Given the description of an element on the screen output the (x, y) to click on. 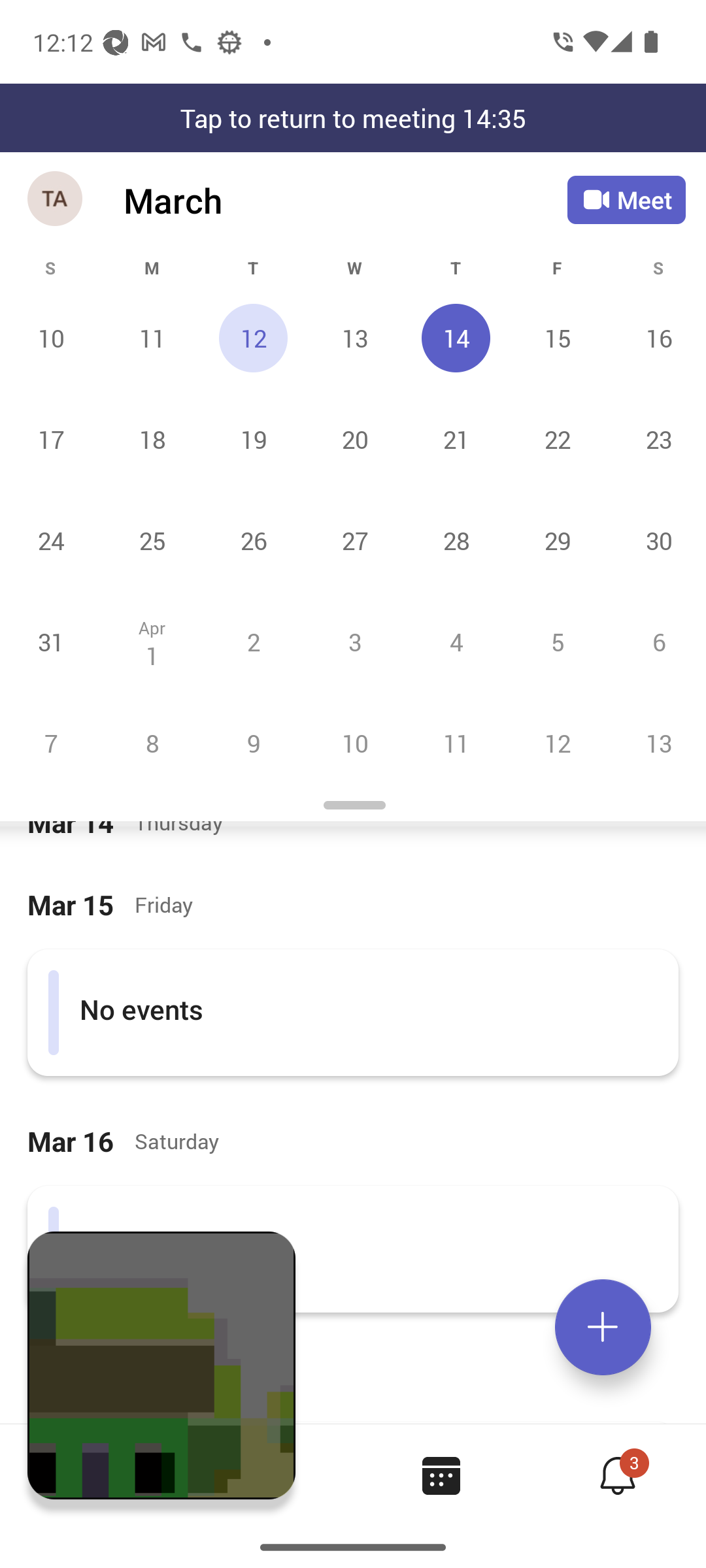
Tap to return to meeting 14:35 (353, 117)
Navigation (56, 199)
Meet Meet now or join with an ID (626, 199)
March March Calendar Agenda View (345, 199)
Sunday, March 10 10 (50, 337)
Monday, March 11 11 (151, 337)
Tuesday, March 12, Today 12 (253, 337)
Wednesday, March 13 13 (354, 337)
Thursday, March 14, Selected 14 (455, 337)
Friday, March 15 15 (556, 337)
Saturday, March 16 16 (656, 337)
Sunday, March 17 17 (50, 438)
Monday, March 18 18 (151, 438)
Tuesday, March 19 19 (253, 438)
Wednesday, March 20 20 (354, 438)
Thursday, March 21 21 (455, 438)
Friday, March 22 22 (556, 438)
Saturday, March 23 23 (656, 438)
Sunday, March 24 24 (50, 540)
Monday, March 25 25 (151, 540)
Tuesday, March 26 26 (253, 540)
Wednesday, March 27 27 (354, 540)
Thursday, March 28 28 (455, 540)
Friday, March 29 29 (556, 540)
Saturday, March 30 30 (656, 540)
Sunday, March 31 31 (50, 642)
Monday, April 1 Apr 1 (151, 642)
Tuesday, April 2 2 (253, 642)
Wednesday, April 3 3 (354, 642)
Thursday, April 4 4 (455, 642)
Friday, April 5 5 (556, 642)
Saturday, April 6 6 (656, 642)
Sunday, April 7 7 (50, 743)
Monday, April 8 8 (151, 743)
Tuesday, April 9 9 (253, 743)
Wednesday, April 10 10 (354, 743)
Thursday, April 11 11 (455, 743)
Friday, April 12 12 (556, 743)
Saturday, April 13 13 (656, 743)
Expand meetings menu (602, 1327)
Calendar tab, 3 of 4 (441, 1475)
Activity tab,4 of 4, not selected, 3 new 3 (617, 1475)
